Given the description of an element on the screen output the (x, y) to click on. 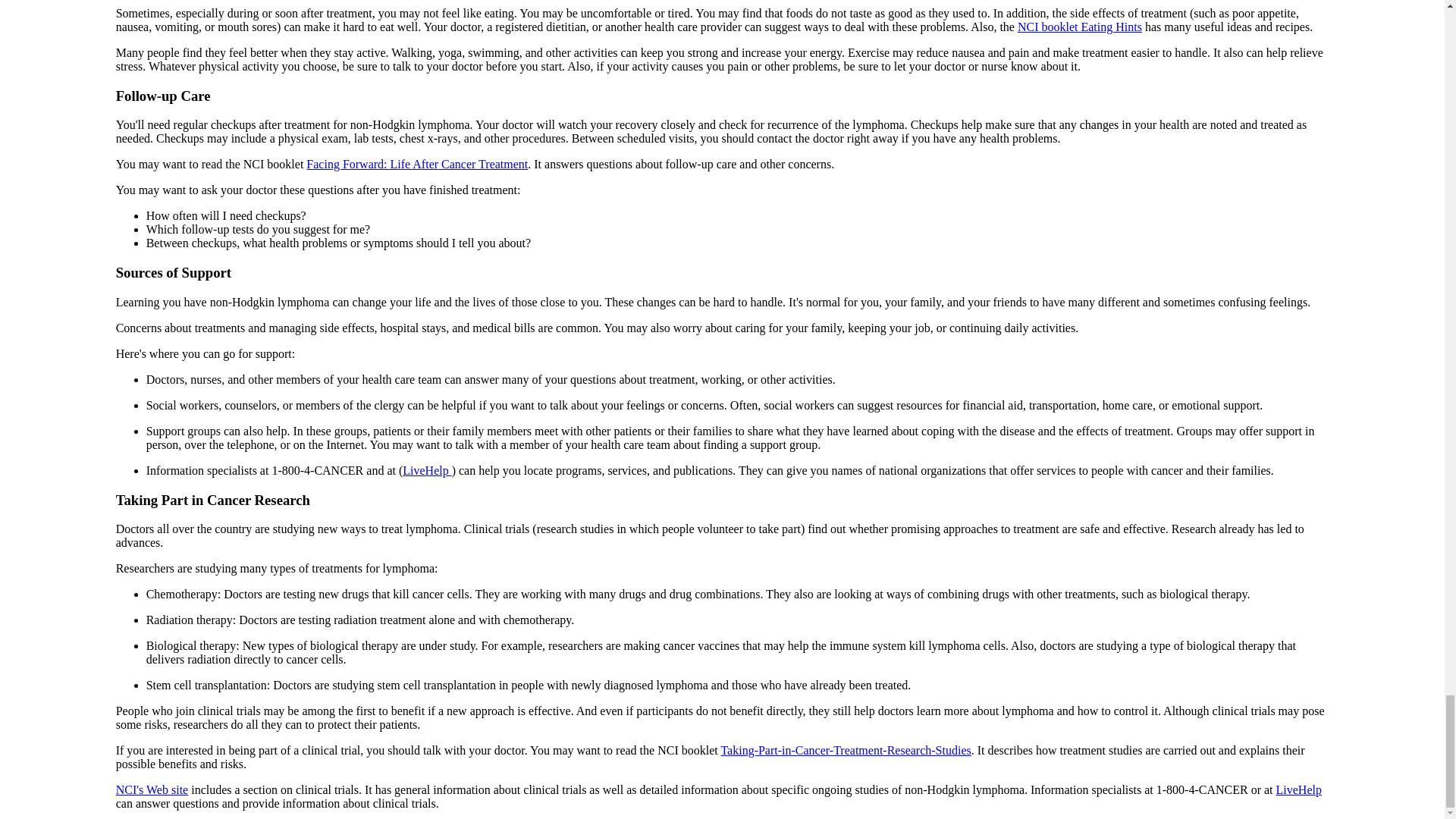
LiveHelp (1299, 789)
Taking-Part-in-Cancer-Treatment-Research-Studies (845, 749)
LiveHelp (427, 470)
Facing Forward: Life After Cancer Treatment (416, 164)
NCI's Web site (152, 789)
NCI booklet Eating Hints (1079, 26)
